Given the description of an element on the screen output the (x, y) to click on. 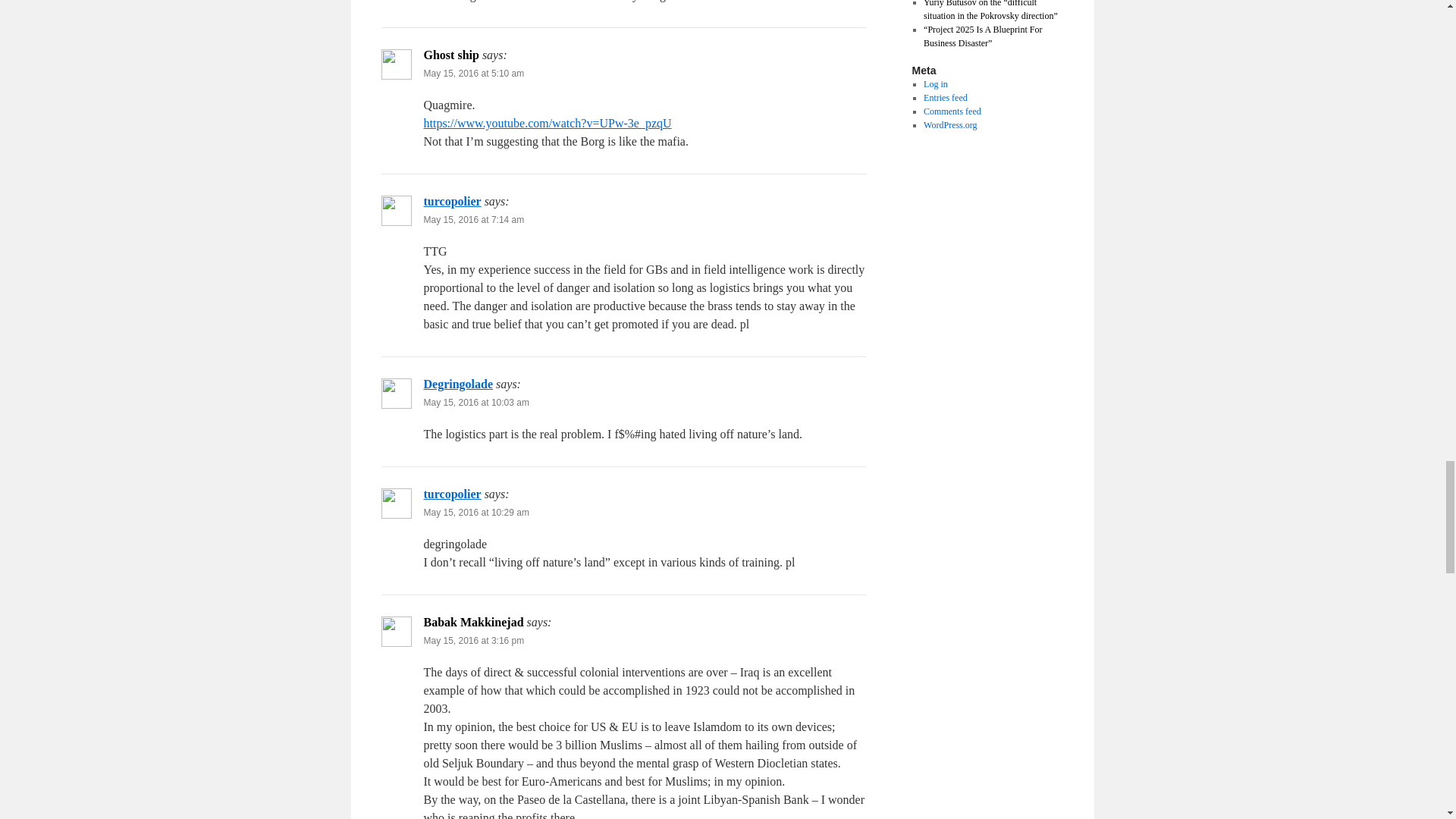
May 15, 2016 at 7:14 am (473, 219)
May 15, 2016 at 10:03 am (475, 402)
May 15, 2016 at 10:29 am (475, 511)
Degringolade (458, 383)
turcopolier (451, 201)
turcopolier (451, 493)
May 15, 2016 at 3:16 pm (473, 640)
May 15, 2016 at 5:10 am (473, 72)
